Given the description of an element on the screen output the (x, y) to click on. 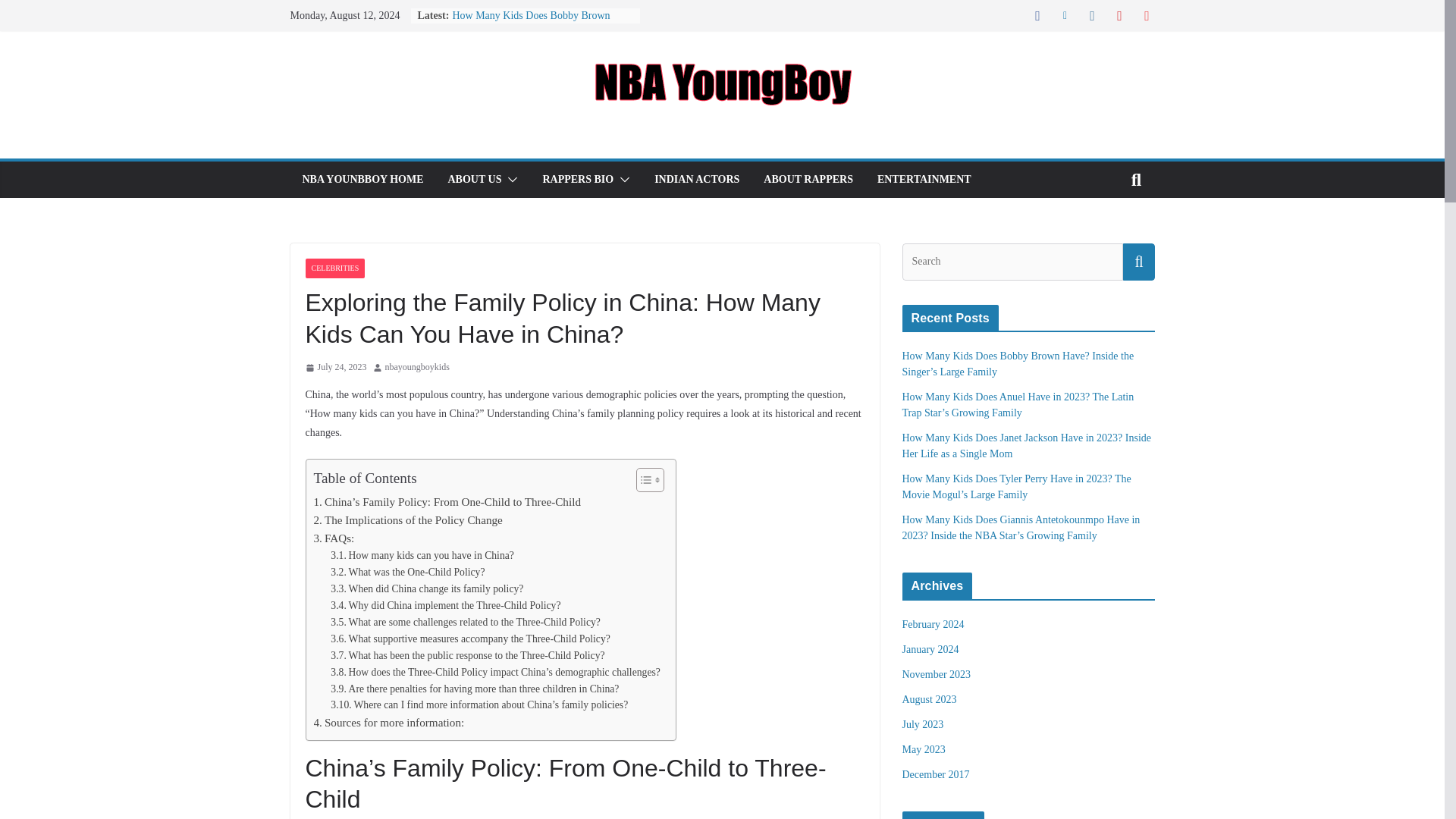
nbayoungboykids (417, 367)
When did China change its family policy? (426, 588)
July 24, 2023 (335, 367)
NBA YOUNBBOY HOME (362, 179)
What was the One-Child Policy? (407, 572)
The Implications of the Policy Change (408, 520)
When did China change its family policy? (426, 588)
8:00 am (335, 367)
RAPPERS BIO (576, 179)
How many kids can you have in China? (421, 555)
